Given the description of an element on the screen output the (x, y) to click on. 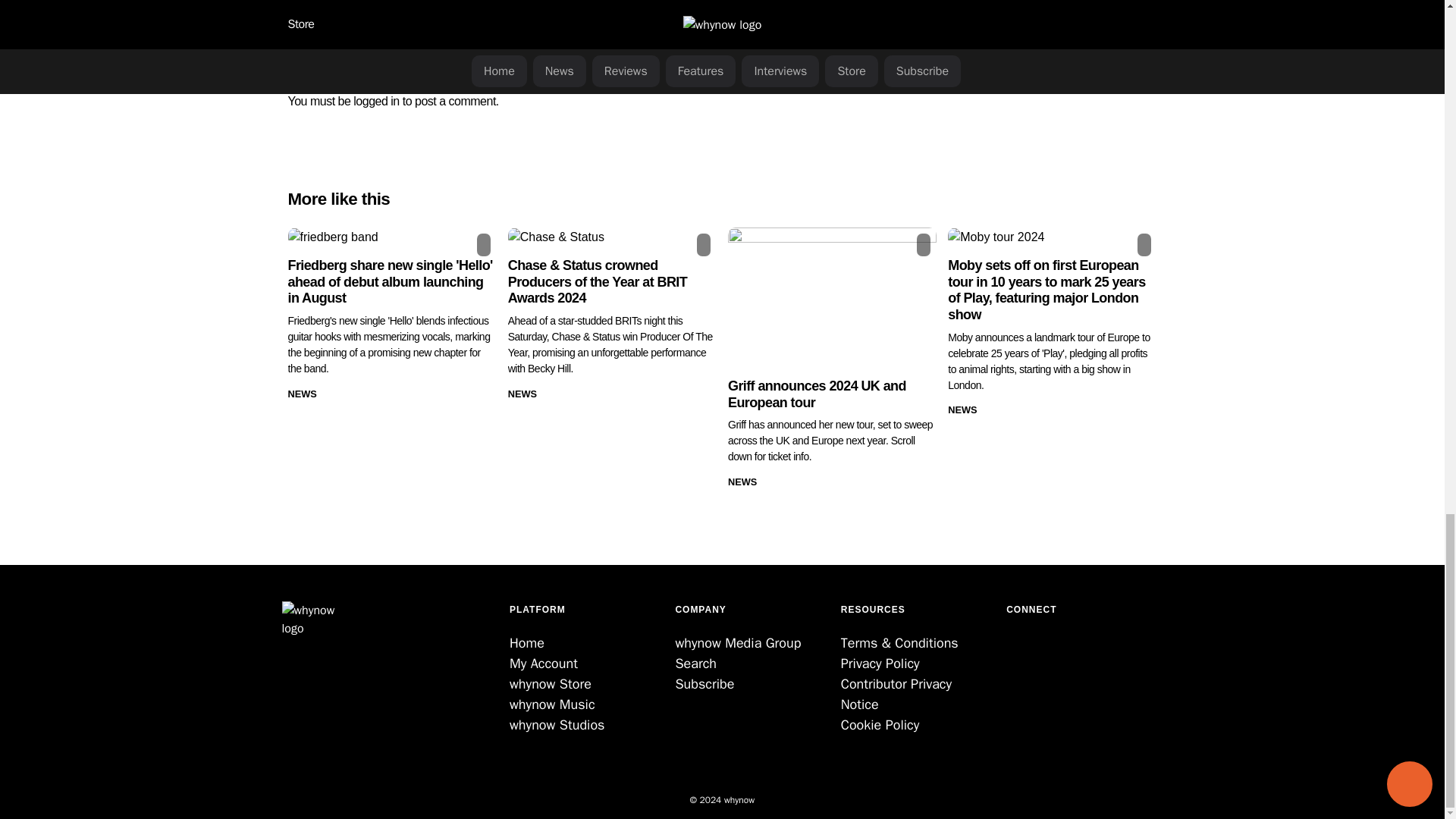
Follow us on Tiktok (1032, 648)
logged in (375, 101)
Follow us on Twitter (1009, 648)
New Music (447, 4)
Favourite this post (703, 244)
LONDON (383, 4)
ALBUMS (317, 4)
Favourite this post (483, 244)
London (383, 4)
NEW MUSIC (447, 4)
Follow us on Instagram (1025, 648)
Albums (317, 4)
Follow us on Facebook (1017, 648)
Favourite this post (923, 244)
Favourite this post (1144, 244)
